Given the description of an element on the screen output the (x, y) to click on. 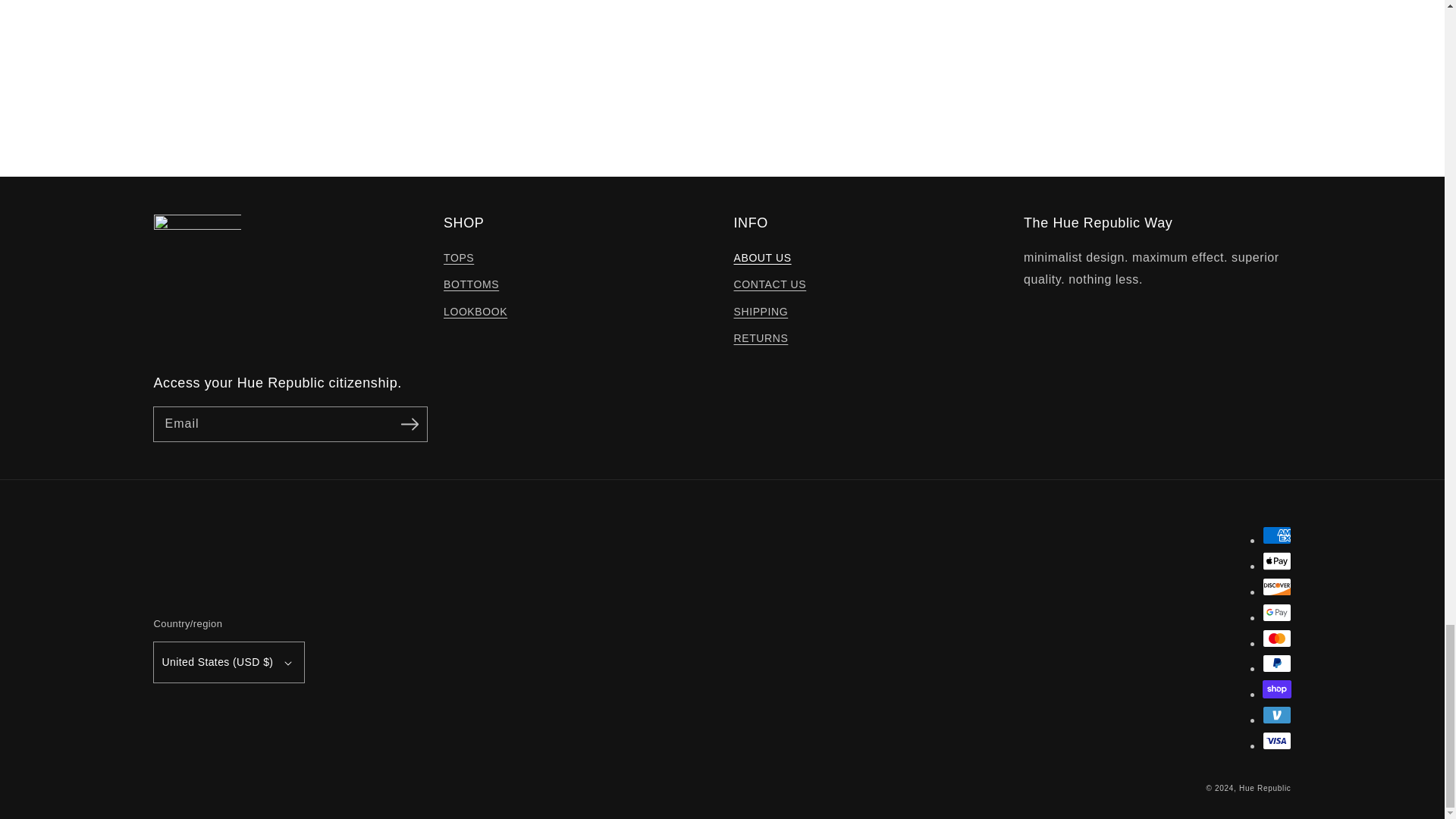
PayPal (1276, 663)
Mastercard (1276, 638)
Discover (1276, 587)
Apple Pay (1276, 561)
Shop Pay (1276, 689)
Google Pay (1276, 612)
Visa (1276, 741)
Venmo (1276, 714)
American Express (1276, 535)
